Given the description of an element on the screen output the (x, y) to click on. 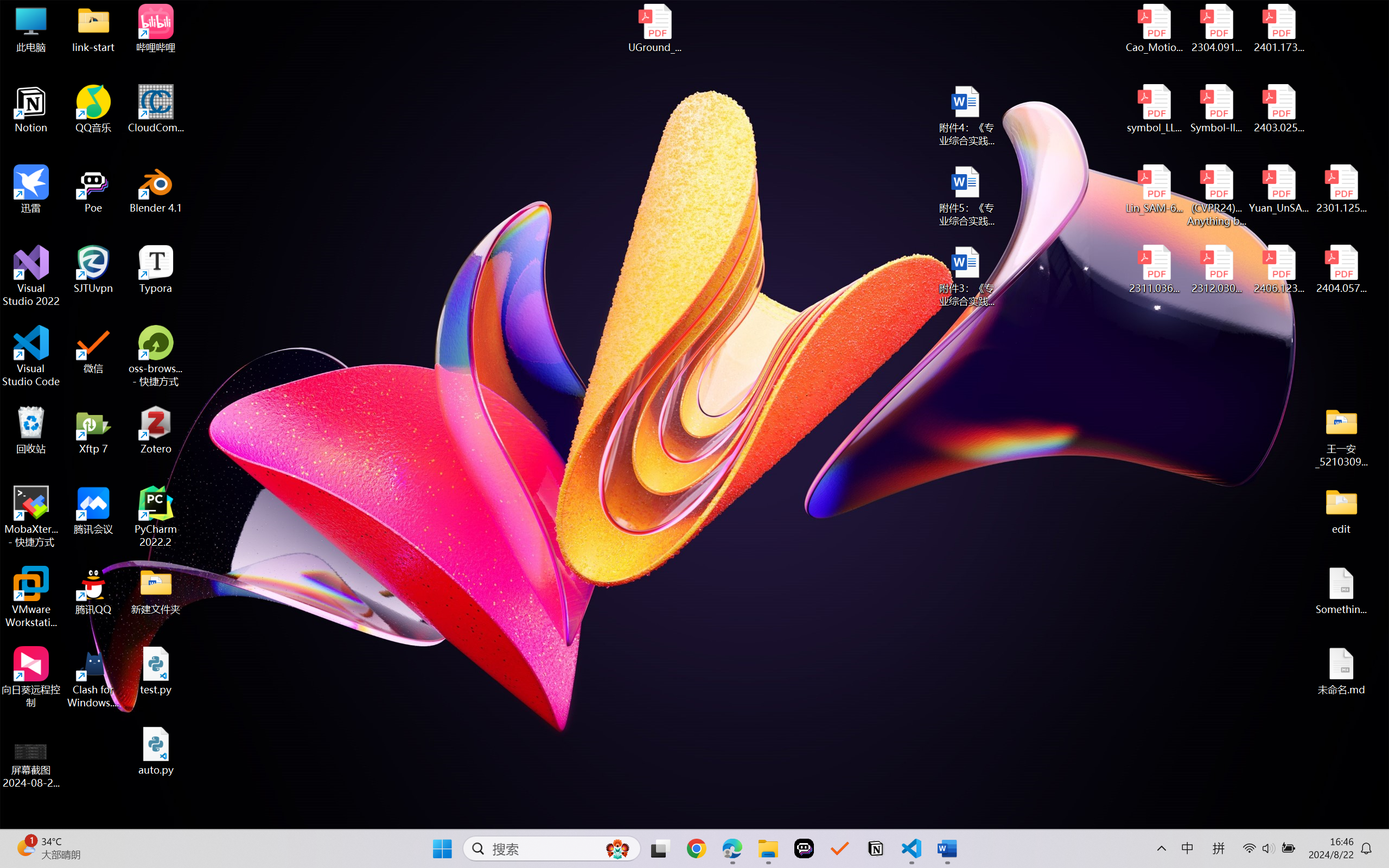
UGround_paper.pdf (654, 28)
2312.03032v2.pdf (1216, 269)
2401.17399v1.pdf (1278, 28)
VMware Workstation Pro (31, 597)
Xftp 7 (93, 430)
Visual Studio 2022 (31, 276)
Blender 4.1 (156, 189)
